Given the description of an element on the screen output the (x, y) to click on. 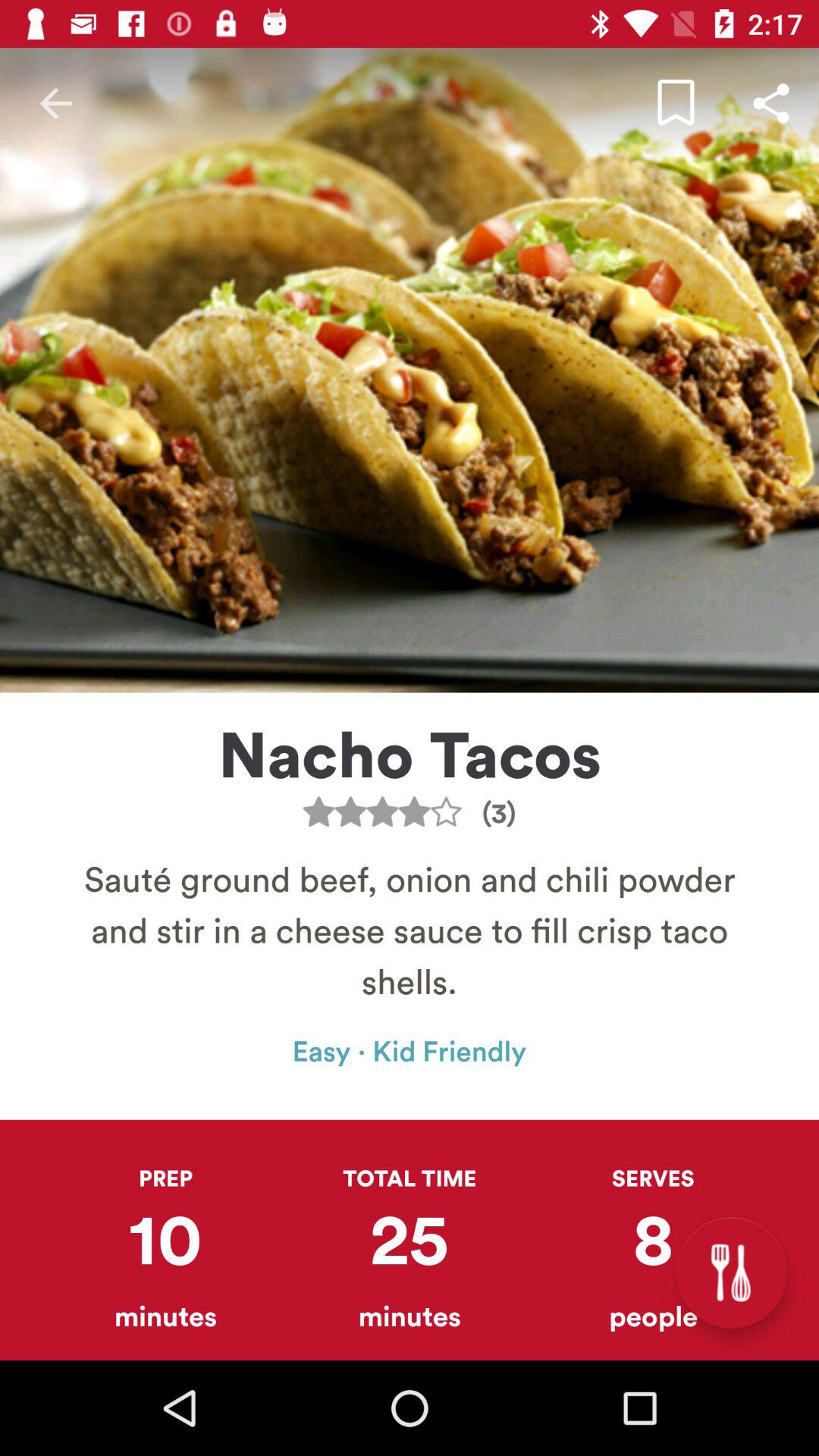
open the item above the nacho tacos icon (771, 103)
